Given the description of an element on the screen output the (x, y) to click on. 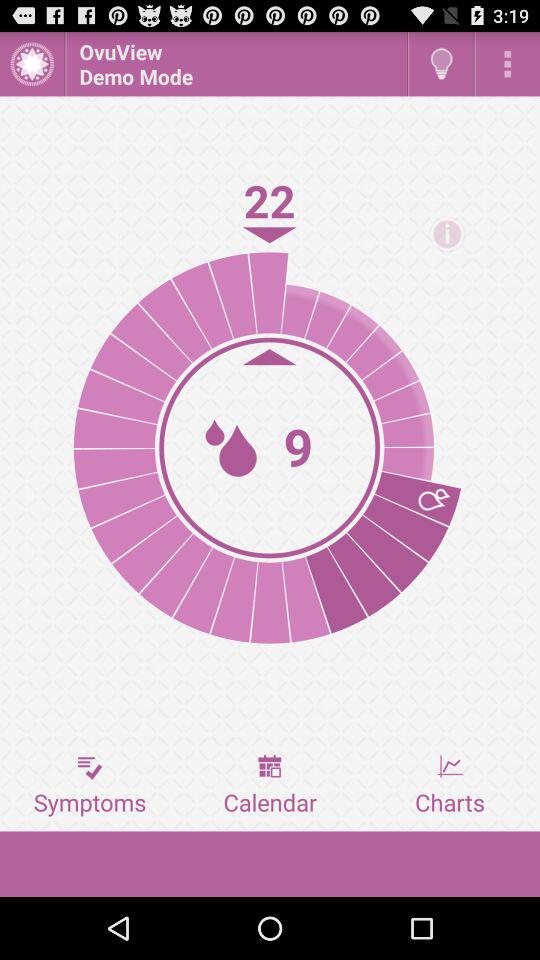
tap icon to the left of the charts icon (270, 785)
